Given the description of an element on the screen output the (x, y) to click on. 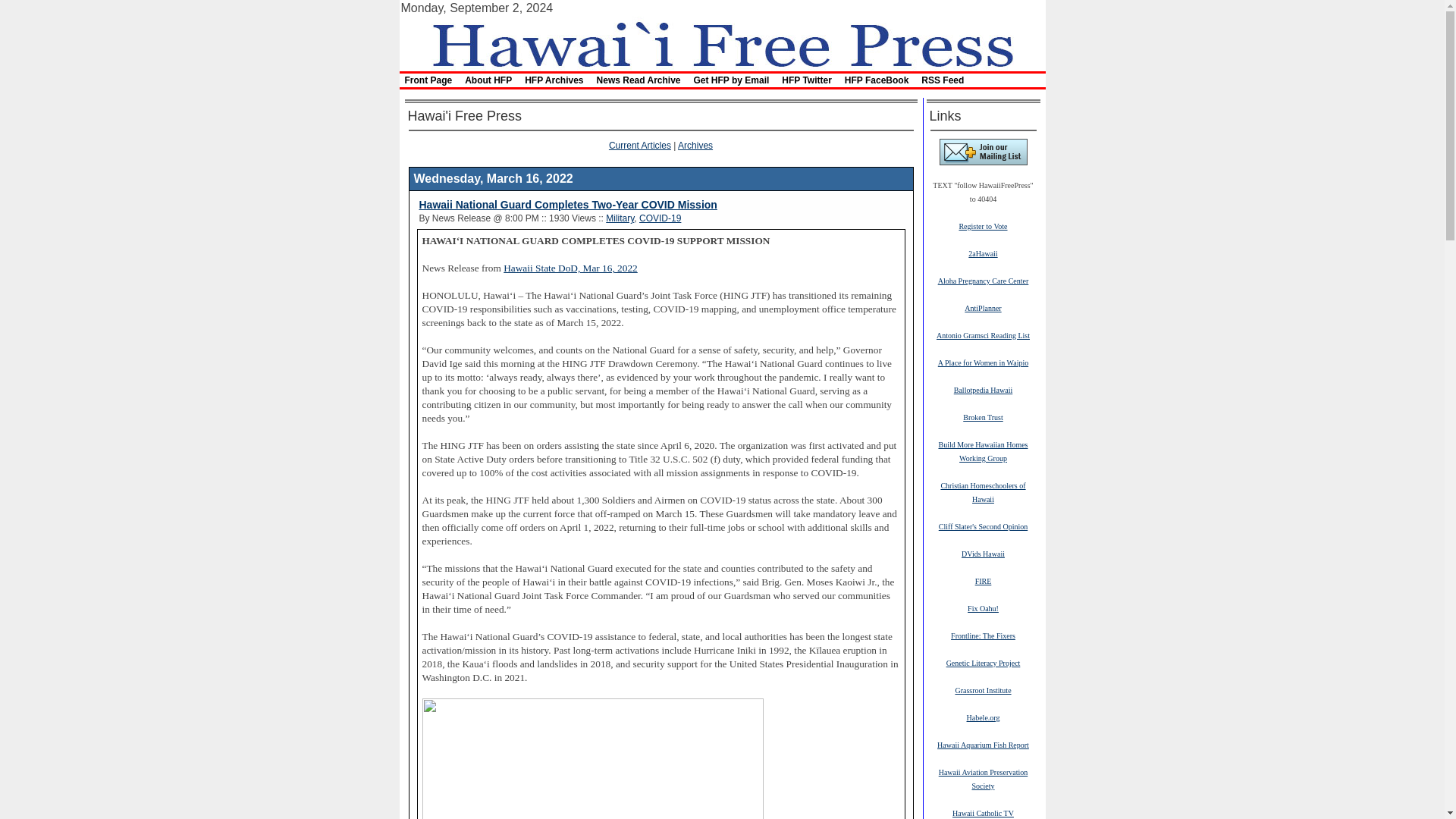
Antonio Gramsci Reading List (982, 335)
2aHawaii (982, 253)
AntiPlanner (982, 307)
Archives (695, 145)
Genetic Literacy Project (983, 662)
Hawaii State DoD, Mar 16, 2022 (570, 267)
Current Articles (639, 145)
Habele.org (983, 716)
Broken Trust (982, 416)
DVids Hawaii (982, 552)
